Given the description of an element on the screen output the (x, y) to click on. 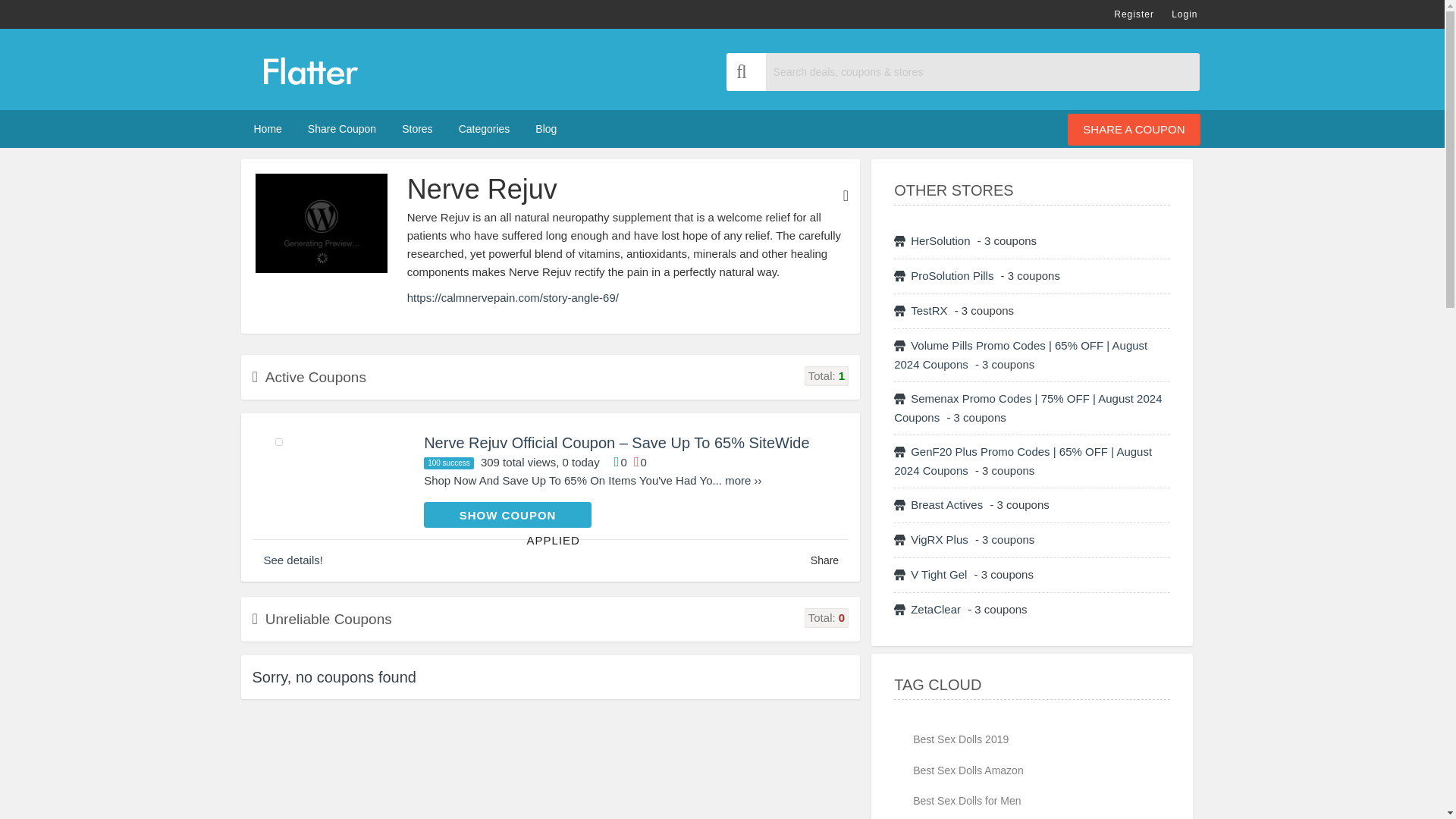
See details! (293, 559)
Share Coupon (342, 128)
Search (745, 71)
SHOW COUPON (507, 514)
Categories (483, 128)
Stores (417, 128)
Login (1185, 14)
HerSolution (939, 240)
TestRX (927, 309)
Blog (545, 128)
Register (1134, 14)
SHARE A COUPON (1133, 129)
Home (268, 128)
ProSolution Pills (951, 275)
